Given the description of an element on the screen output the (x, y) to click on. 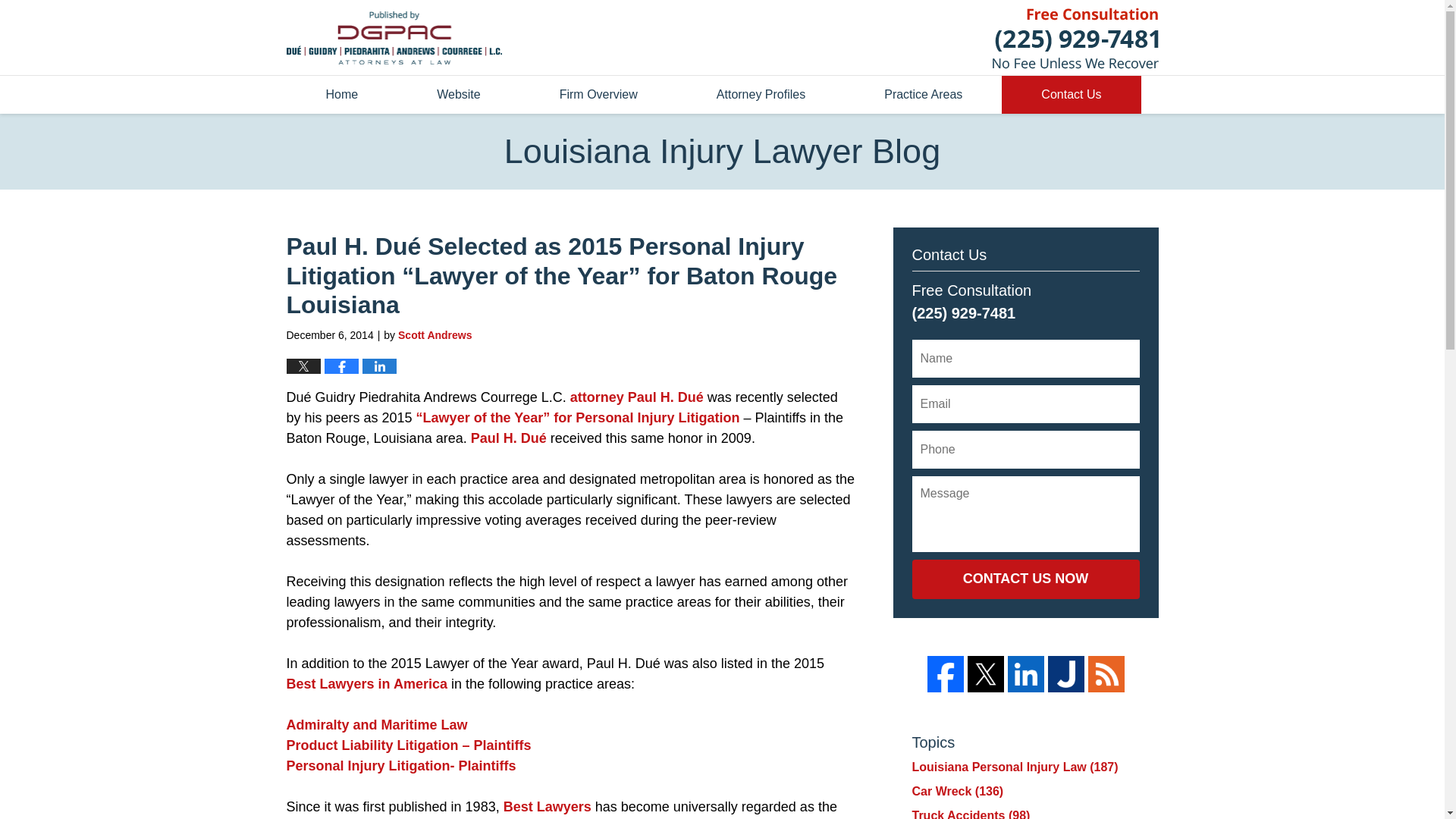
Admiralty and Maritime Law (376, 724)
Best Lawyers in America (366, 683)
Personal Injury Litigation- Plaintiffs (401, 765)
Feed (1105, 674)
Firm Overview (598, 94)
Facebook (944, 674)
Practice Areas (922, 94)
Please enter a valid phone number. (1024, 449)
Contact Us (1070, 94)
Twitter (986, 674)
Louisiana Injury Lawyer Blog (394, 37)
Home (341, 94)
Justia (1066, 674)
Attorney Profiles (760, 94)
Scott Andrews (434, 335)
